Given the description of an element on the screen output the (x, y) to click on. 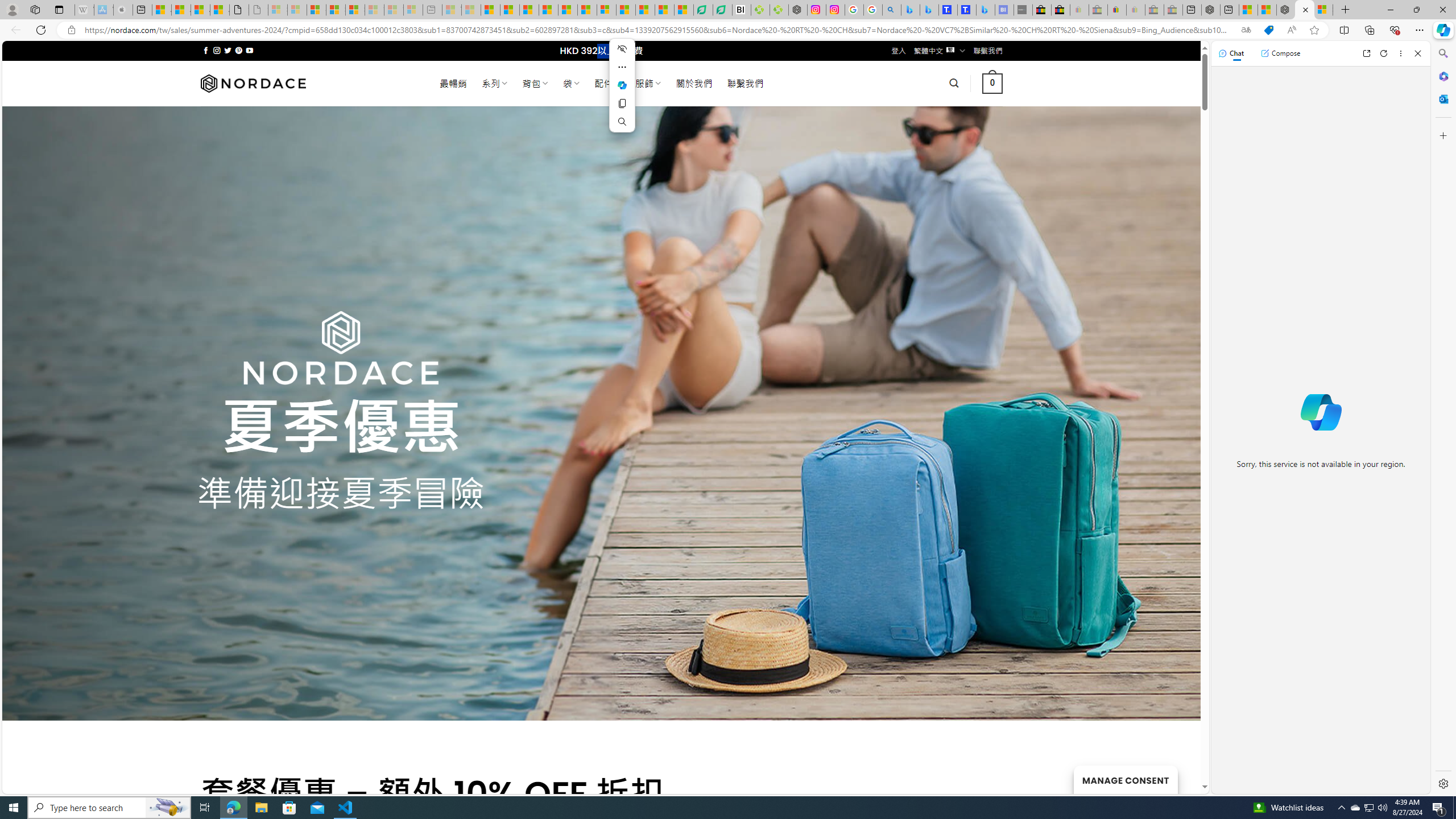
Microsoft Bing Travel - Stays in Bangkok, Bangkok, Thailand (929, 9)
Follow on YouTube (249, 50)
Microsoft account | Account Checkup - Sleeping (413, 9)
Chat (1231, 52)
